Given the description of an element on the screen output the (x, y) to click on. 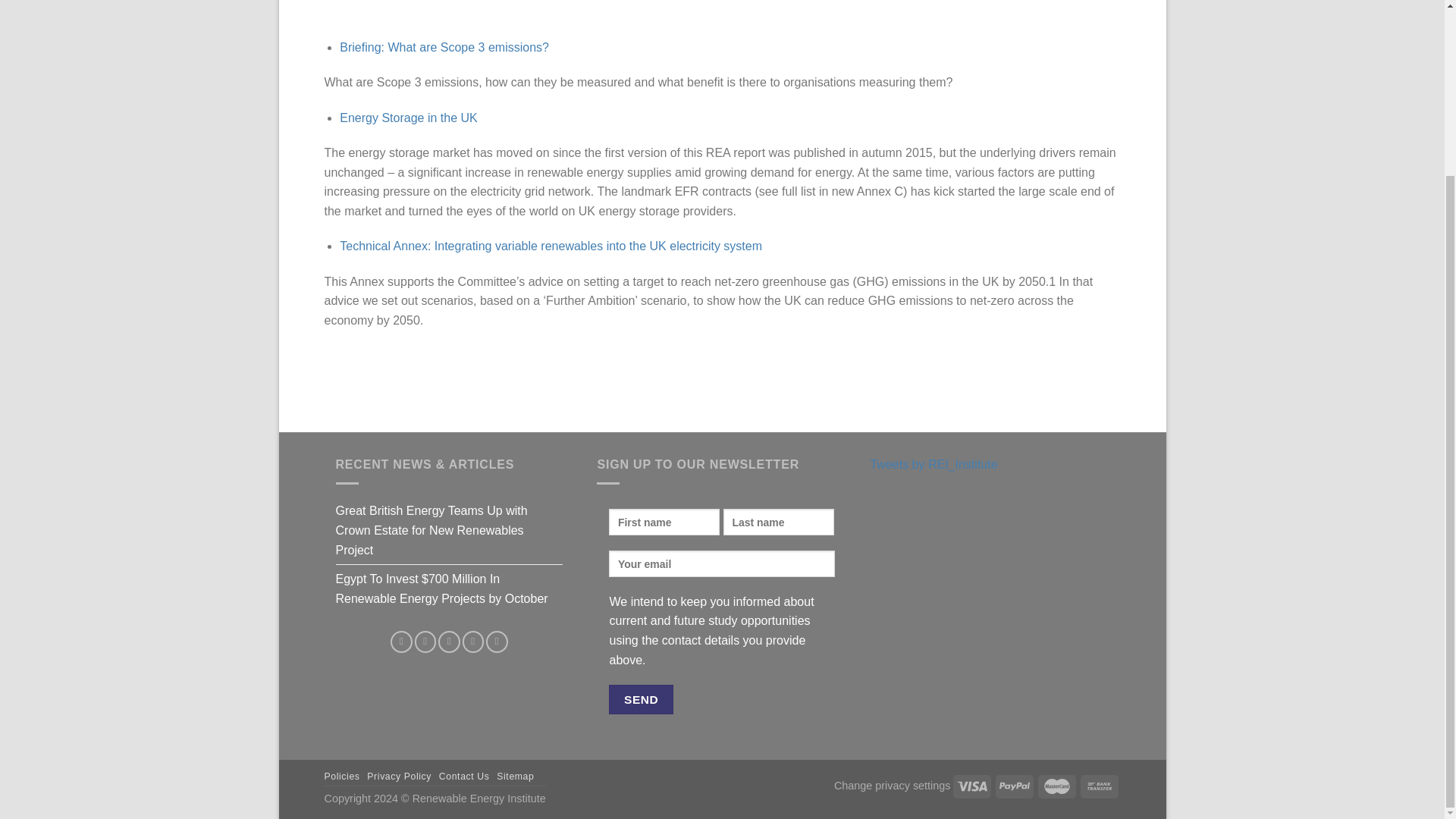
Follow on Twitter (425, 641)
Follow on Facebook (401, 641)
Send us an email (449, 641)
Send (640, 699)
Follow on LinkedIn (473, 641)
